Given the description of an element on the screen output the (x, y) to click on. 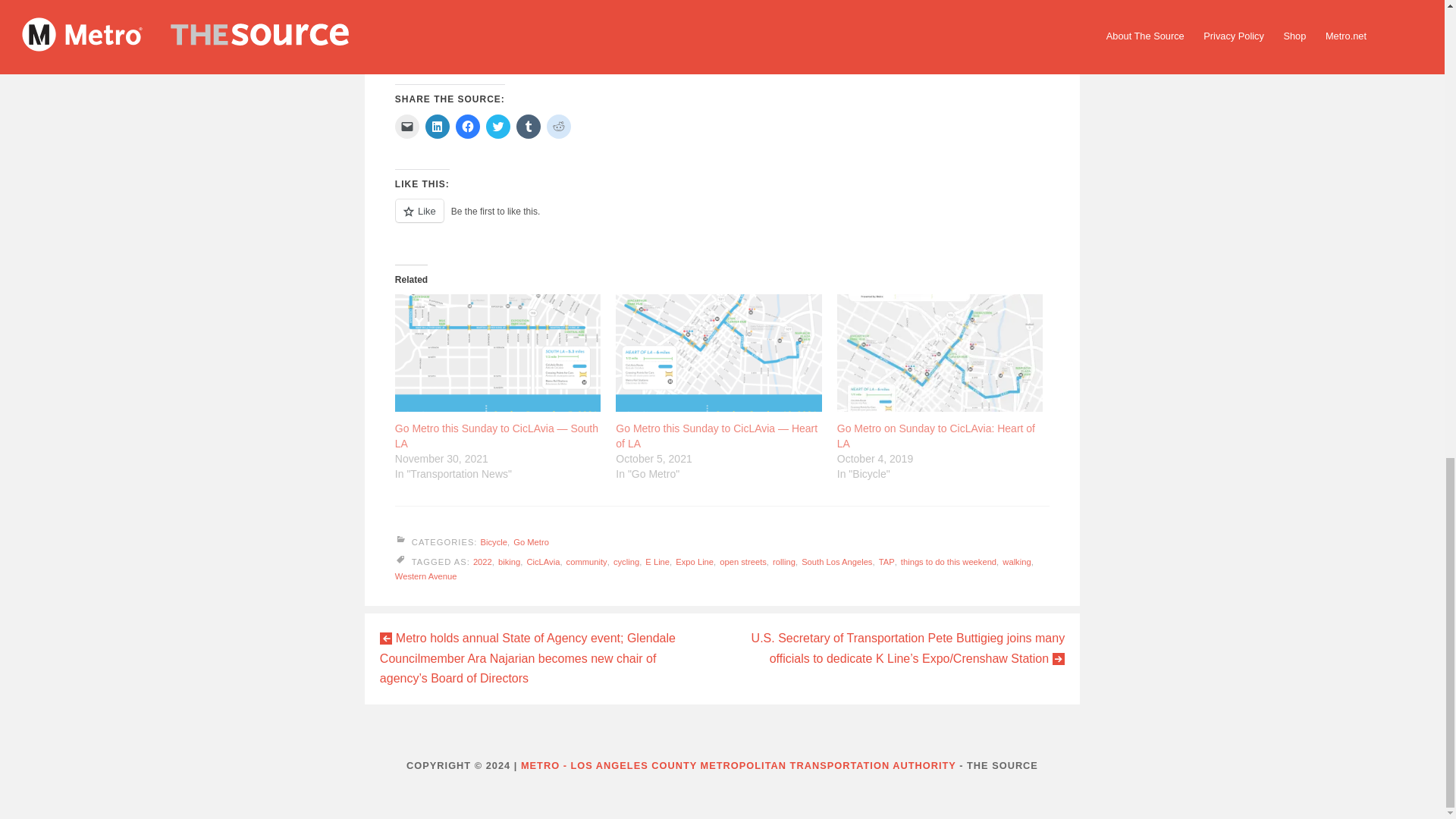
2022 (482, 561)
Like or Reblog (721, 219)
community (586, 561)
Click to share on Twitter (498, 126)
Go Metro on Sunday to CicLAvia: Heart of LA (939, 352)
Bicycle (493, 542)
Expo Line (694, 561)
Go Metro (530, 542)
E Line (657, 561)
Click to share on Tumblr (528, 126)
Go Metro on Sunday to CicLAvia: Heart of LA (936, 435)
CicLAvia (542, 561)
Click to share on LinkedIn (437, 126)
Click to share on Facebook (467, 126)
Go Metro on Sunday to CicLAvia: Heart of LA (936, 435)
